Given the description of an element on the screen output the (x, y) to click on. 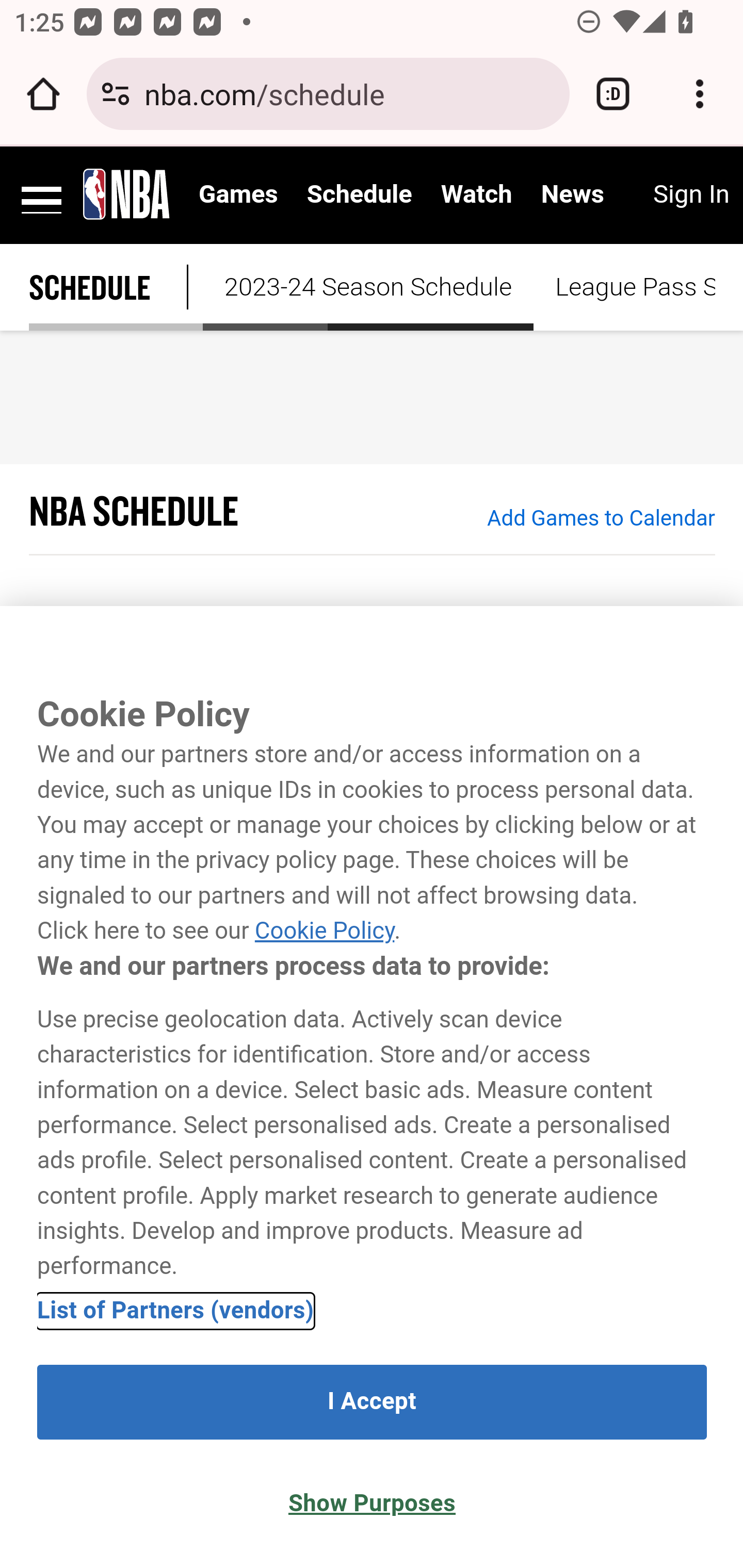
Open the home page (43, 93)
Connection is secure (115, 93)
Switch or close tabs (612, 93)
Customize and control Google Chrome (699, 93)
nba.com/schedule (349, 92)
Games (238, 195)
Schedule (358, 195)
Watch (476, 195)
News (571, 195)
Sign In (690, 195)
NBA Logo NBA NBA Logo NBA (127, 193)
Global Navigation Toggle (42, 193)
2023-24 Season Schedule (368, 286)
League Pass Schedule (624, 286)
Add Games to Calendar (600, 517)
Cookie Policy (323, 931)
List of Partners (vendors) (175, 1310)
I Accept (372, 1402)
Show Purposes (372, 1504)
